Given the description of an element on the screen output the (x, y) to click on. 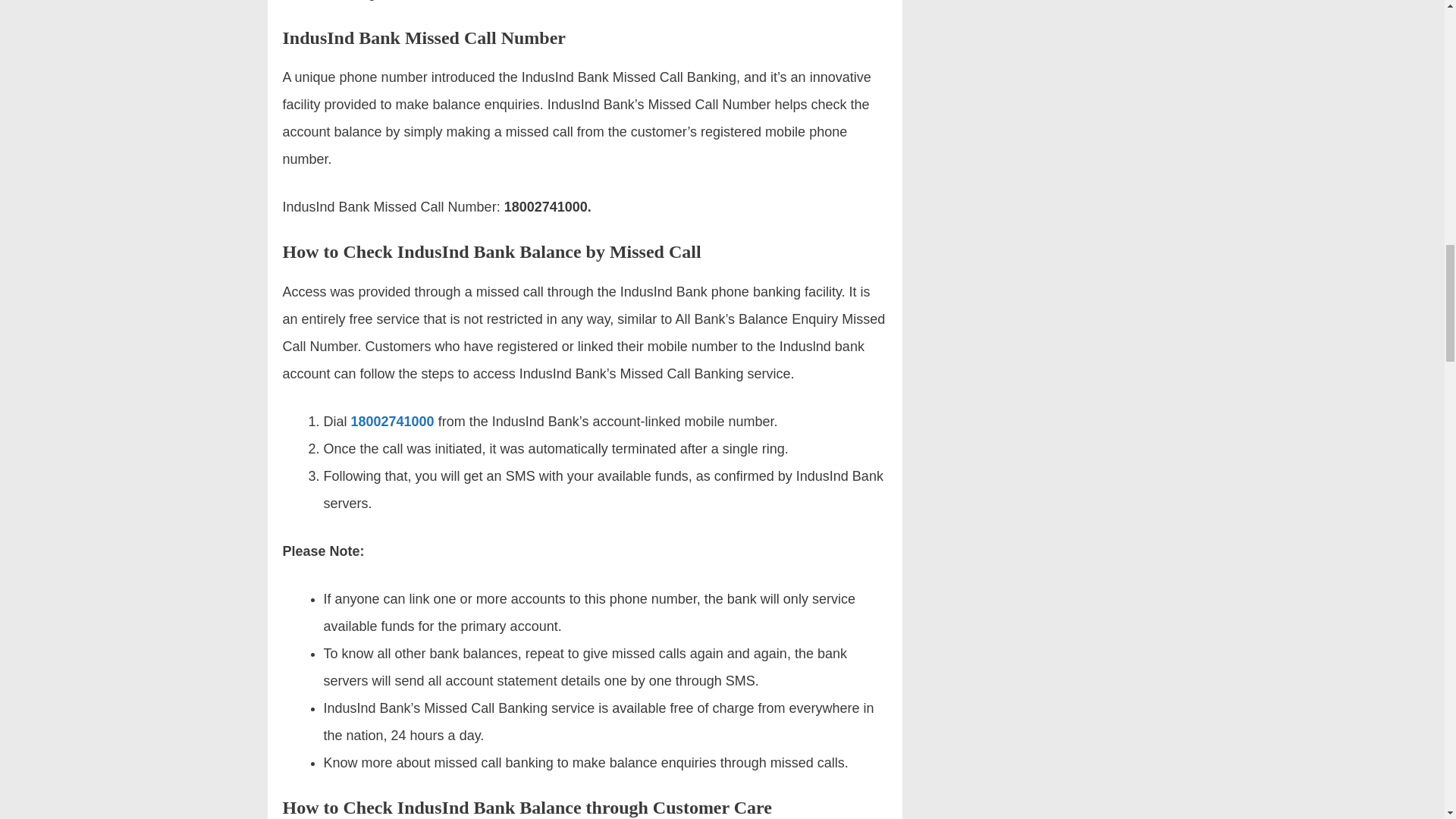
18002741000 (391, 421)
